Given the description of an element on the screen output the (x, y) to click on. 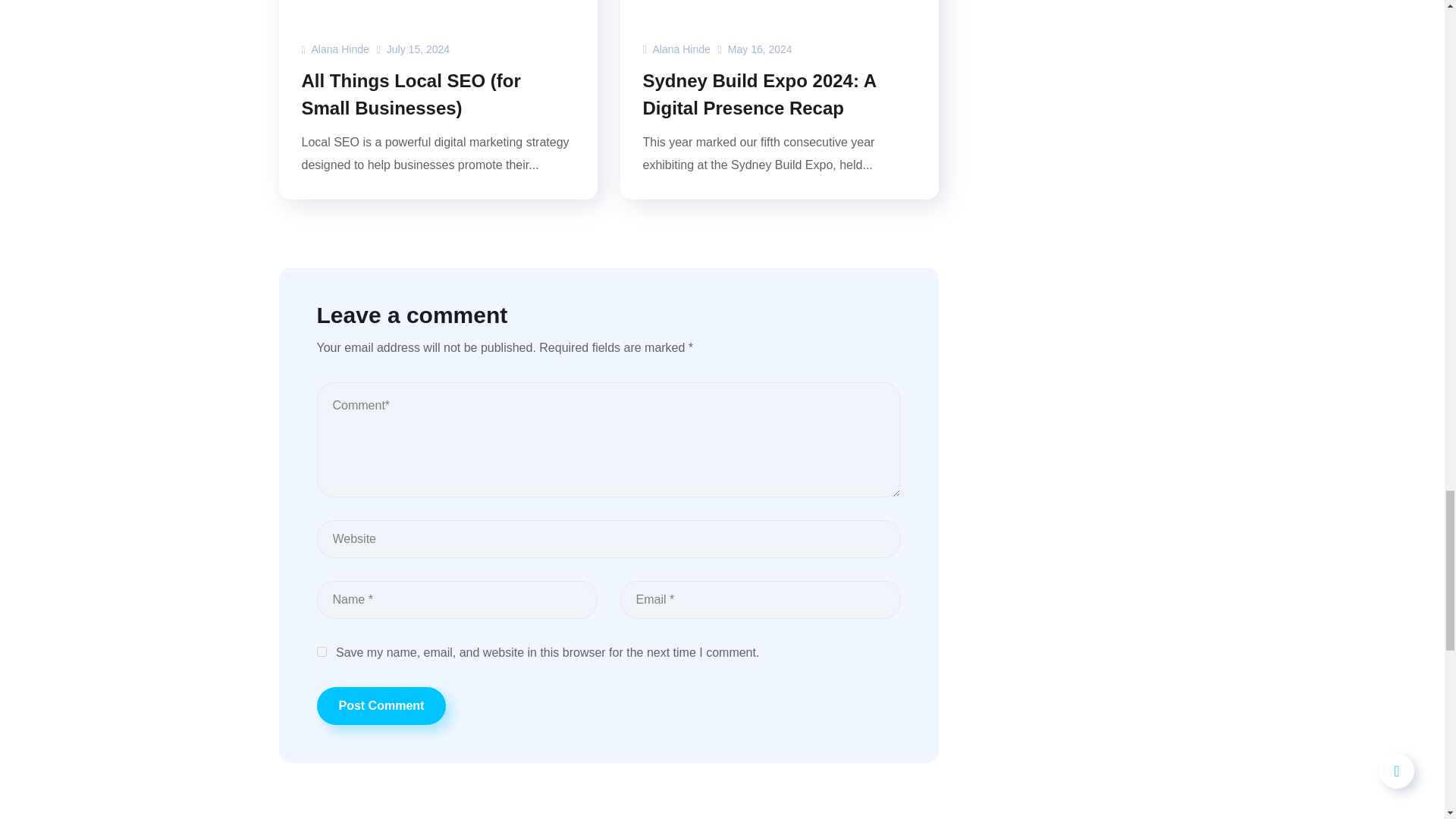
yes (321, 651)
Post Comment (381, 705)
